Given the description of an element on the screen output the (x, y) to click on. 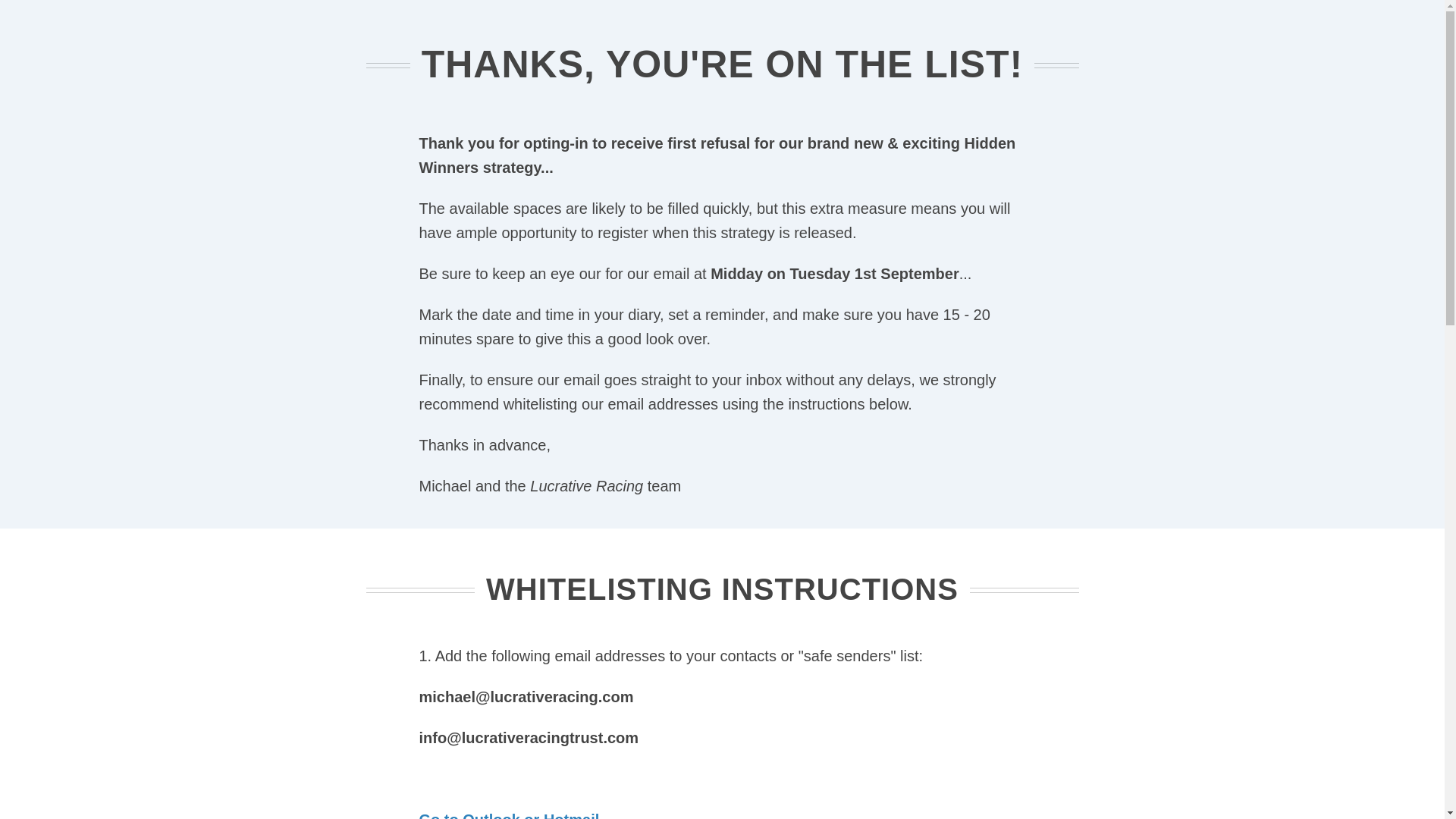
Go to Outlook or Hotmail (508, 815)
